Given the description of an element on the screen output the (x, y) to click on. 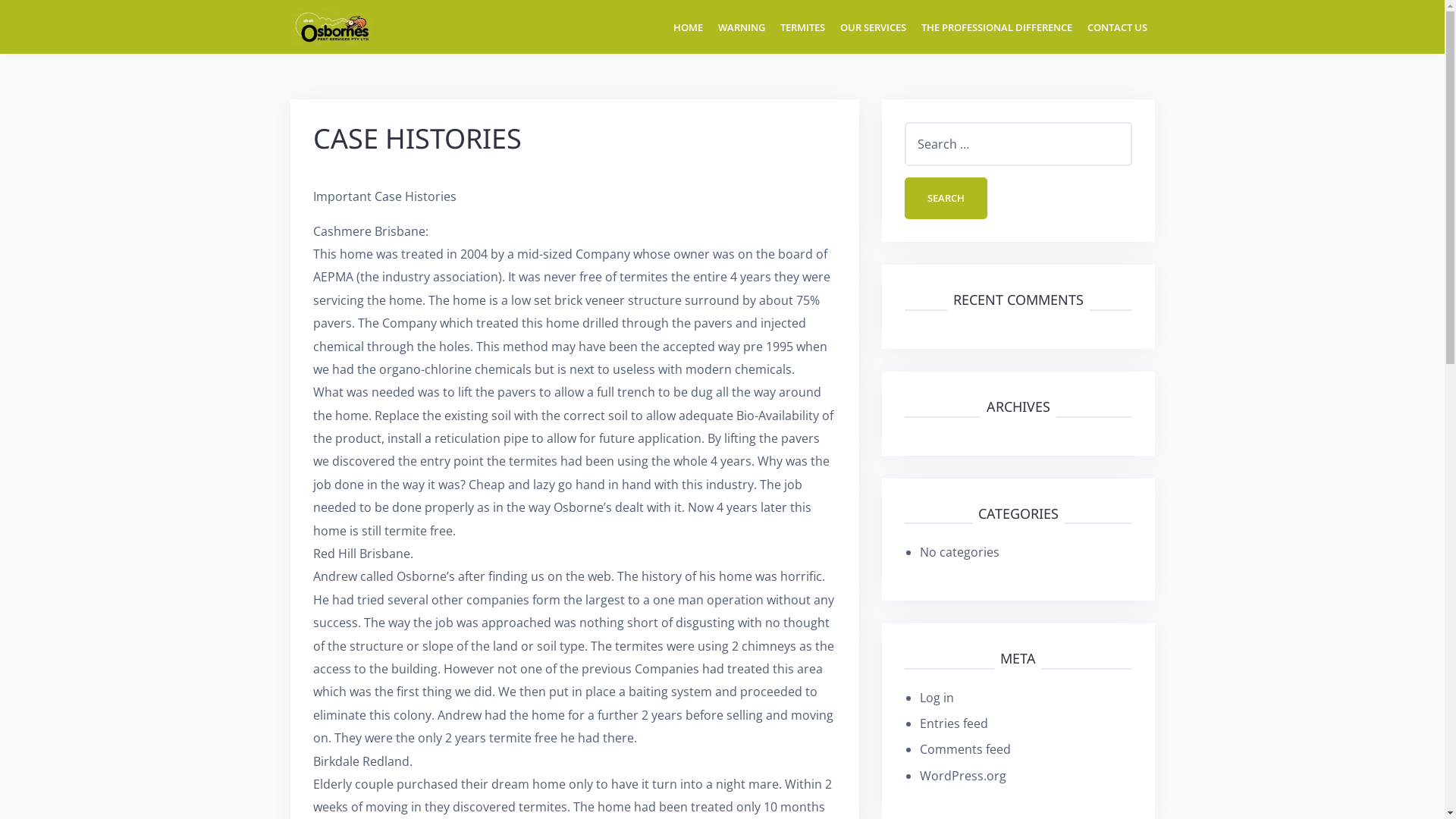
TERMITES Element type: text (801, 27)
Comments feed Element type: text (964, 748)
Skip to content Element type: text (0, 0)
THE PROFESSIONAL DIFFERENCE Element type: text (995, 27)
CONTACT US Element type: text (1117, 27)
OUR SERVICES Element type: text (873, 27)
WordPress.org Element type: text (962, 775)
HOME Element type: text (687, 27)
Log in Element type: text (936, 697)
Search Element type: text (944, 198)
WARNING Element type: text (740, 27)
Entries feed Element type: text (953, 723)
